Given the description of an element on the screen output the (x, y) to click on. 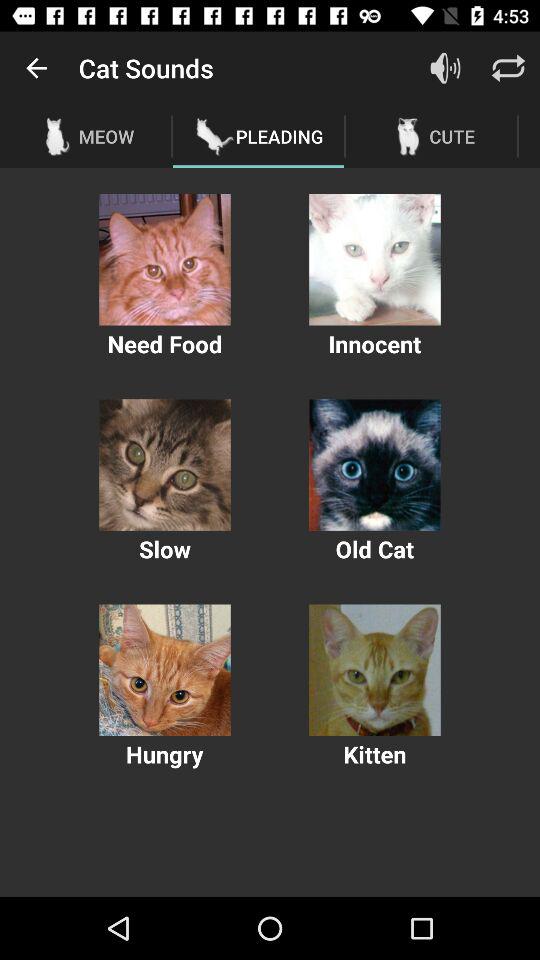
play on loop (508, 67)
